Given the description of an element on the screen output the (x, y) to click on. 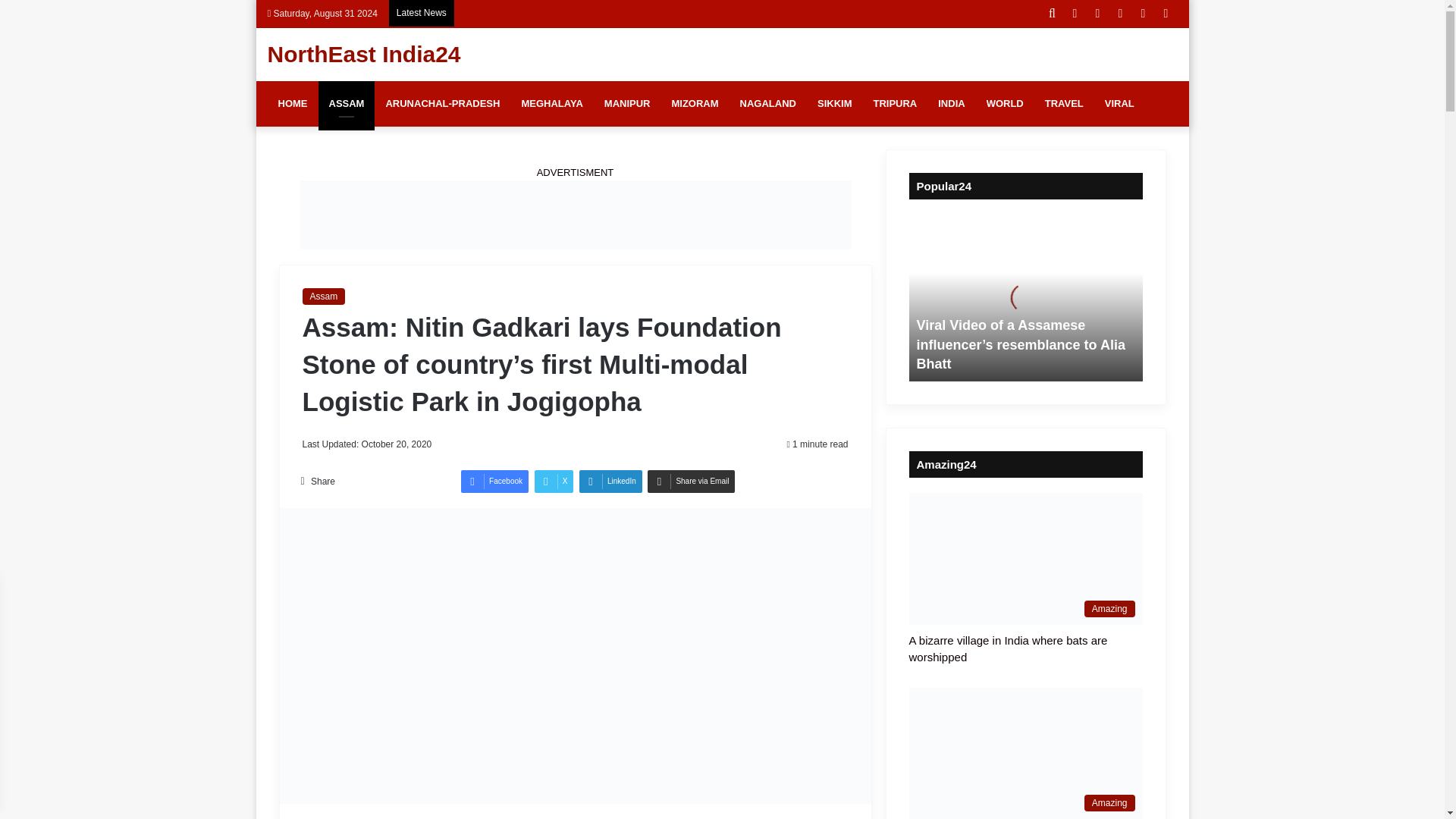
VIRAL (1119, 103)
TRAVEL (1063, 103)
Facebook (494, 481)
INDIA (951, 103)
MIZORAM (695, 103)
Assam (323, 296)
X (553, 481)
WORLD (1004, 103)
MEGHALAYA (551, 103)
LinkedIn (610, 481)
